Given the description of an element on the screen output the (x, y) to click on. 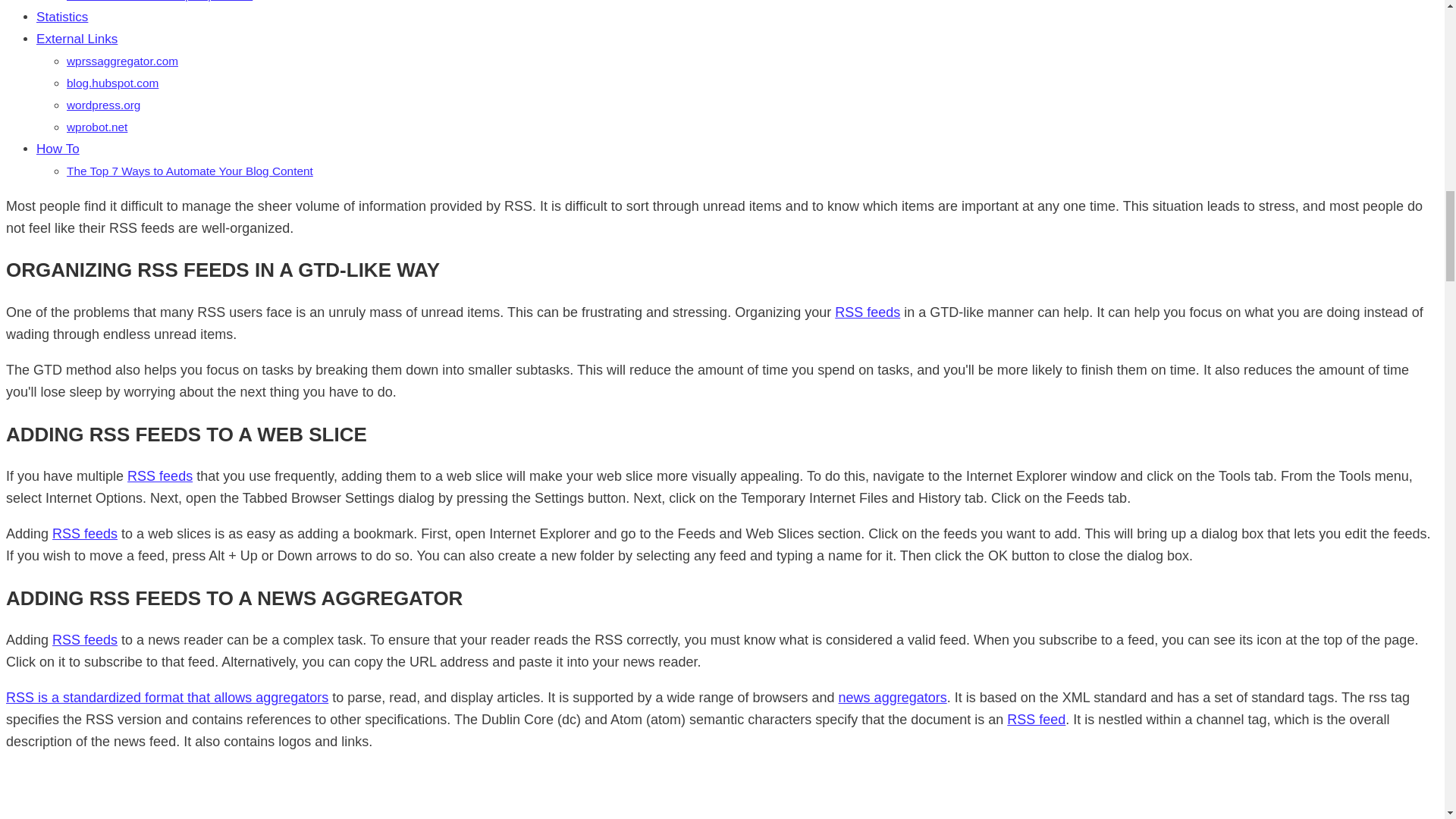
RSS feeds (160, 476)
External Links (76, 38)
The Top 7 Ways to Automate Your Blog Content (189, 170)
RSS feeds (84, 639)
RSS feed (112, 82)
RSS is a standardized format that allows aggregators (1036, 719)
news aggregators (189, 170)
What services does Zapier provide? (121, 60)
wordpress.org (167, 697)
wprobot.net (102, 104)
RSS feeds (892, 697)
